Given the description of an element on the screen output the (x, y) to click on. 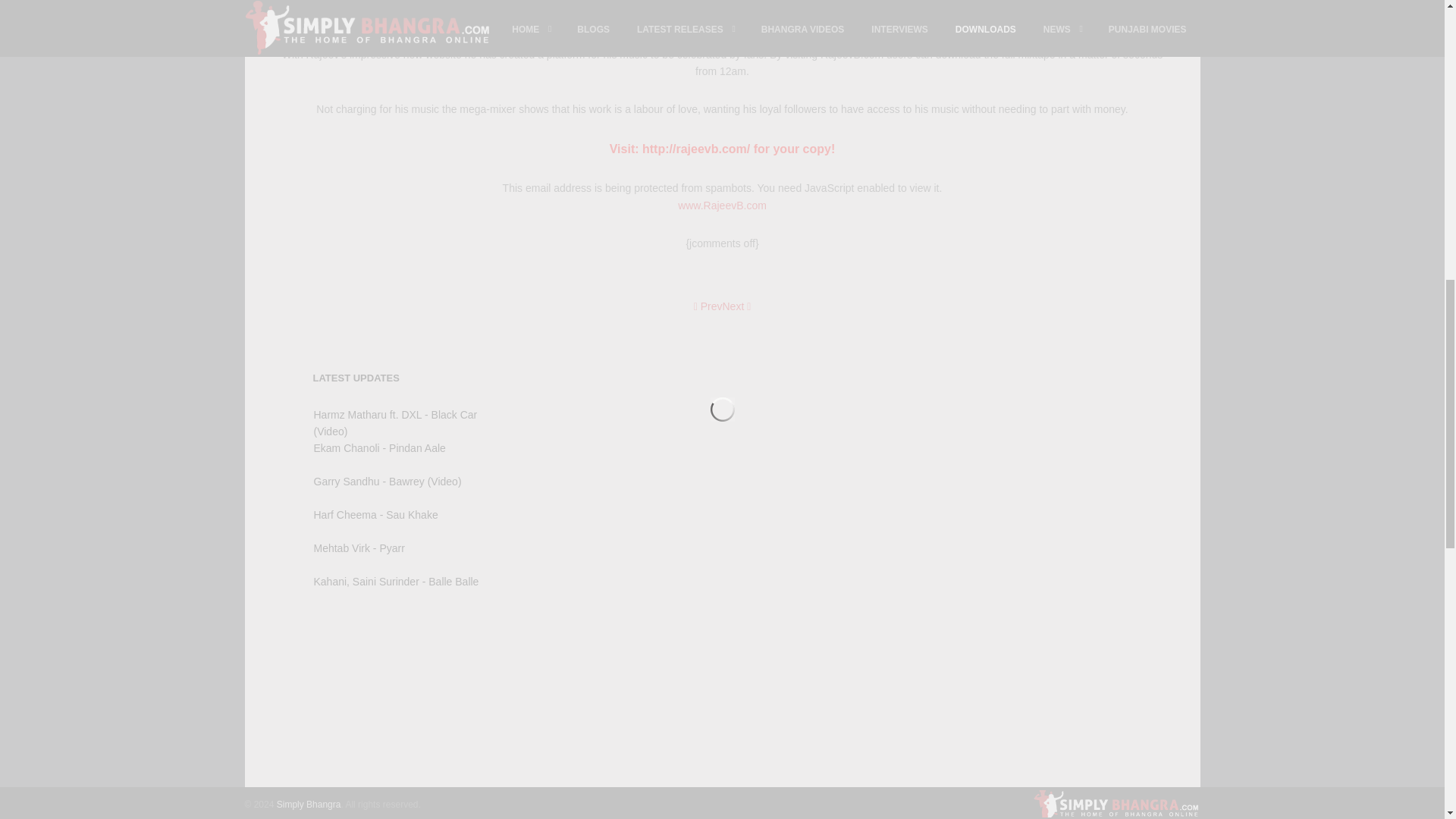
www.RajeevB.com (722, 205)
Harf Cheema - Sau Khake (376, 514)
Kahani, Saini Surinder - Balle Balle (396, 581)
Ekam Chanoli - Pindan Aale (379, 448)
Mehtab Virk - Pyarr (359, 548)
